Given the description of an element on the screen output the (x, y) to click on. 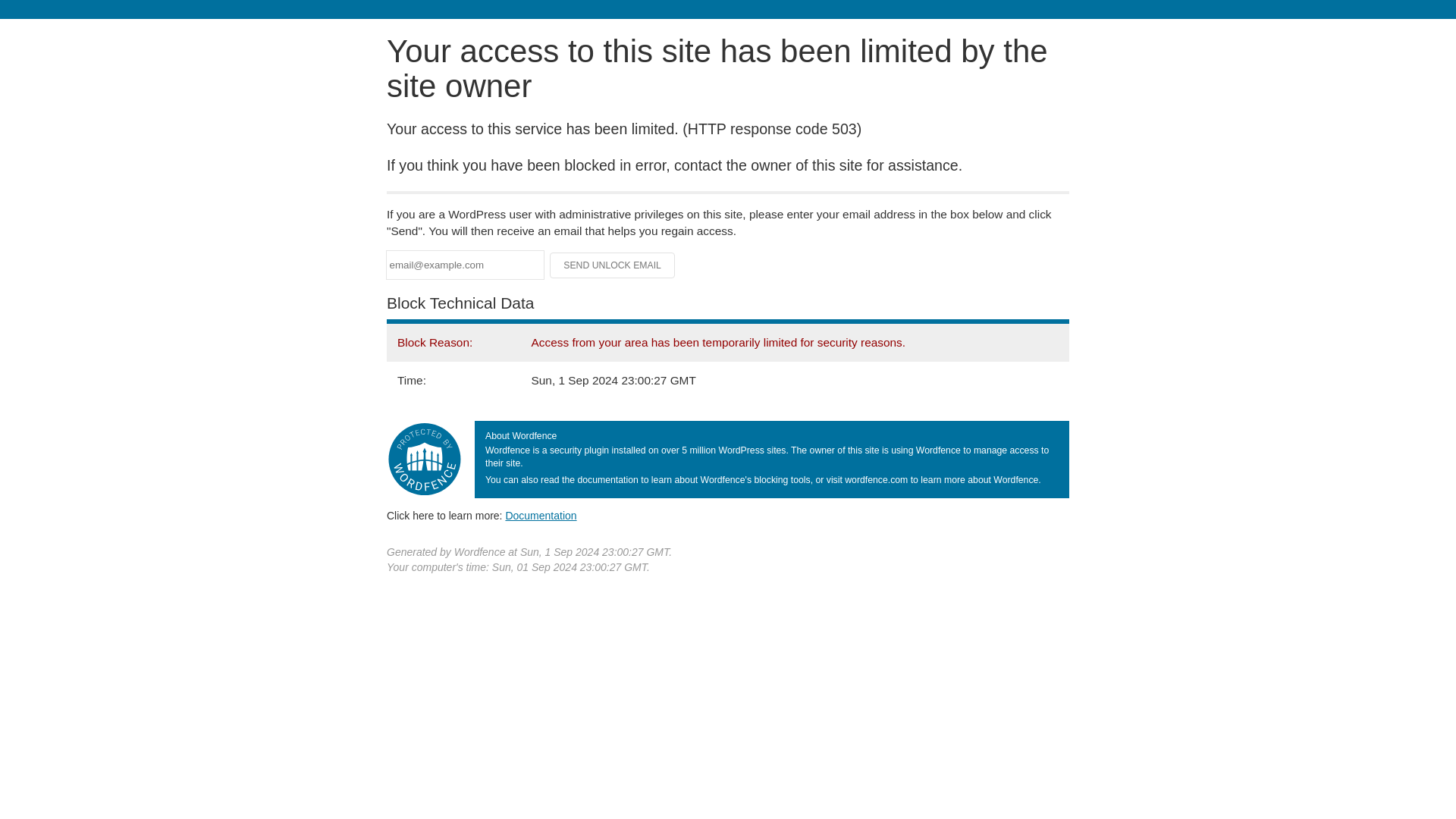
Documentation (540, 515)
Send Unlock Email (612, 265)
Send Unlock Email (612, 265)
